Given the description of an element on the screen output the (x, y) to click on. 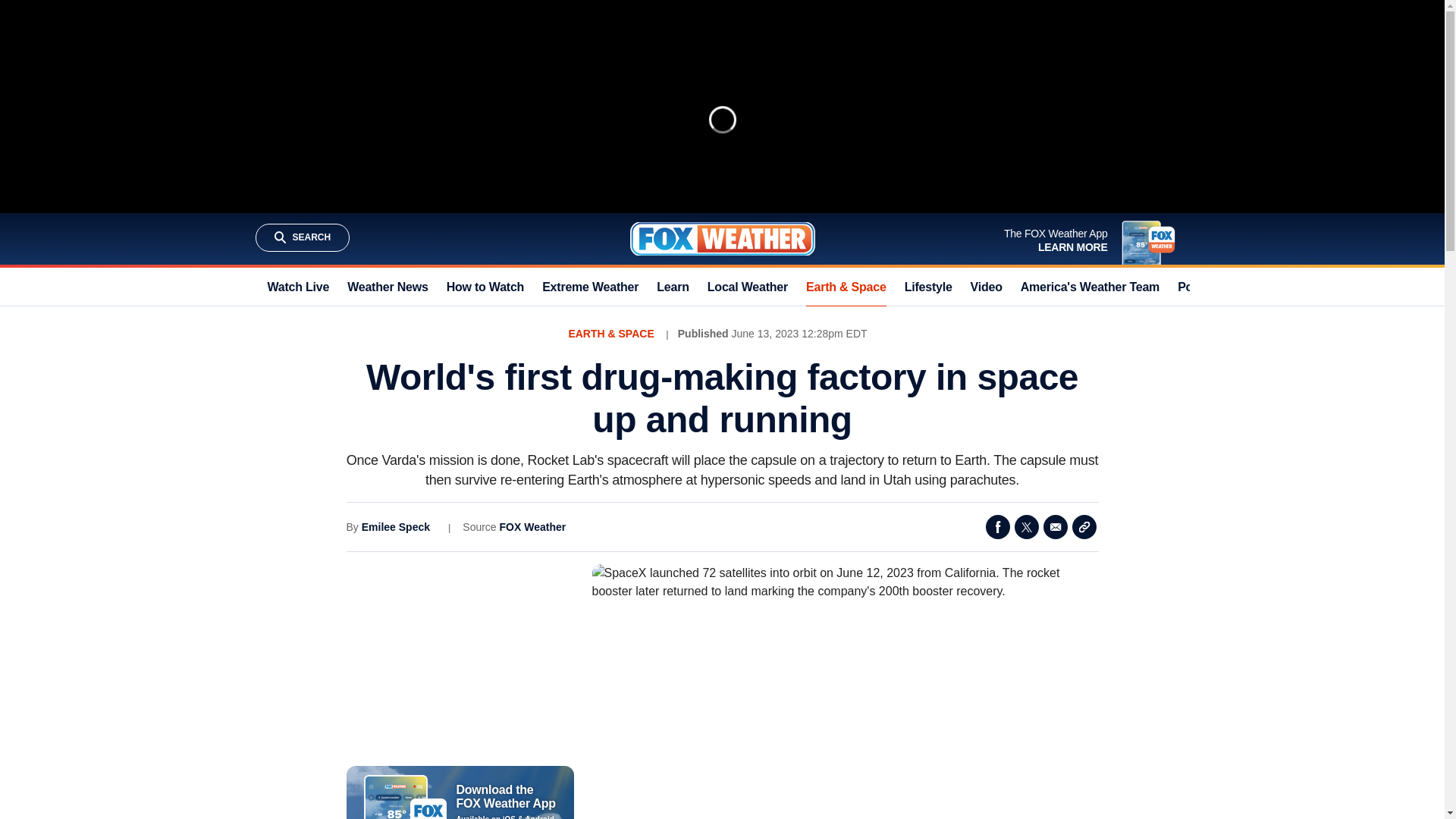
FOX Weather (532, 526)
Twitter (1026, 526)
Email (1055, 526)
Watch Live (297, 286)
Weather News (387, 286)
How to Watch (485, 286)
America's Weather Team (1089, 286)
Emilee Speck (395, 526)
Podcast (1200, 286)
Copy Link (1083, 526)
